Given the description of an element on the screen output the (x, y) to click on. 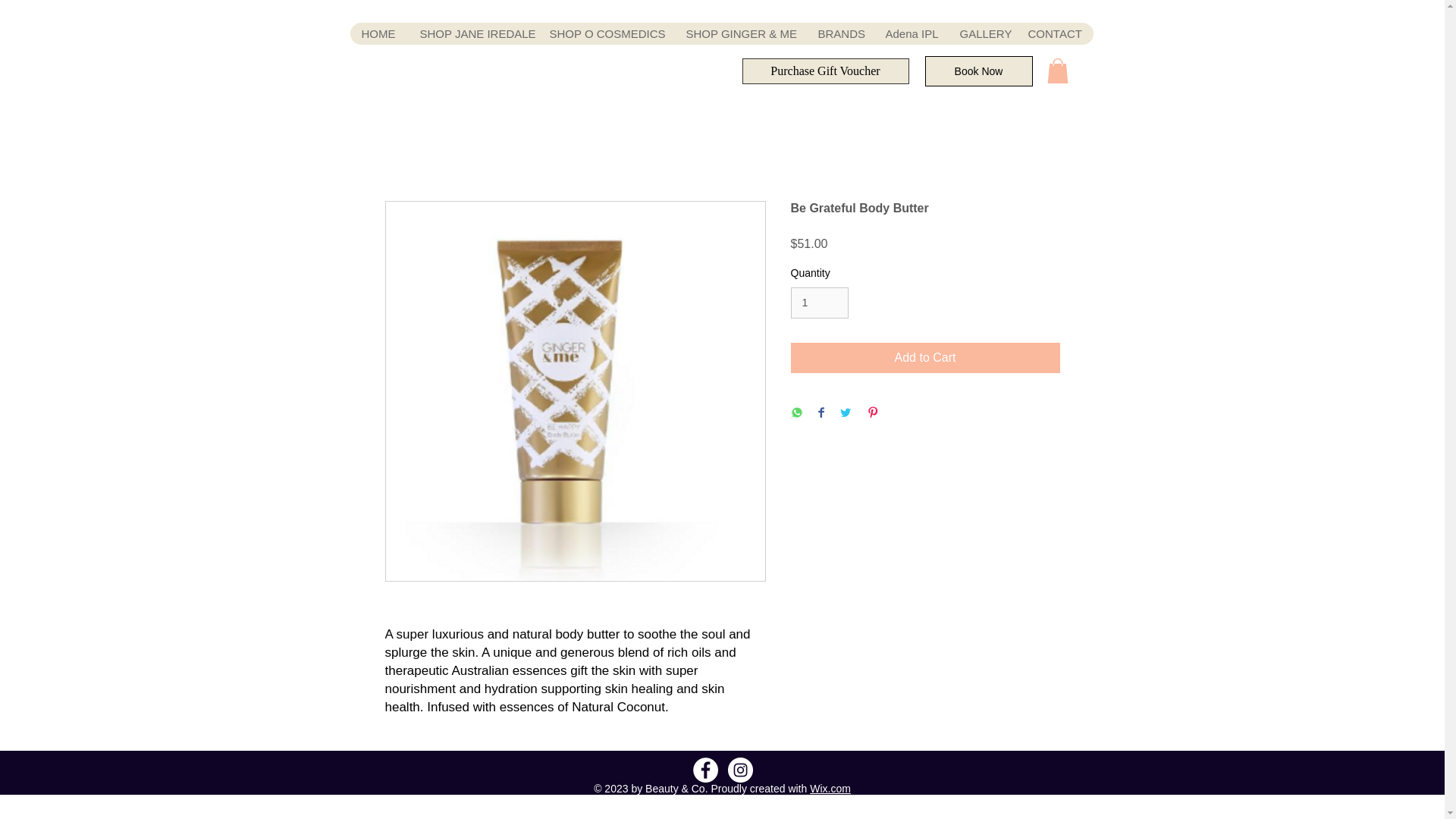
Wix.com (829, 788)
HOME (378, 33)
BRANDS (838, 33)
CONTACT (1054, 33)
Adena IPL (910, 33)
SHOP JANE IREDALE (472, 33)
1 (818, 302)
Purchase Gift Voucher (824, 71)
GALLERY (981, 33)
Add to Cart (924, 358)
Book Now (978, 71)
SHOP O COSMEDICS (604, 33)
